Given the description of an element on the screen output the (x, y) to click on. 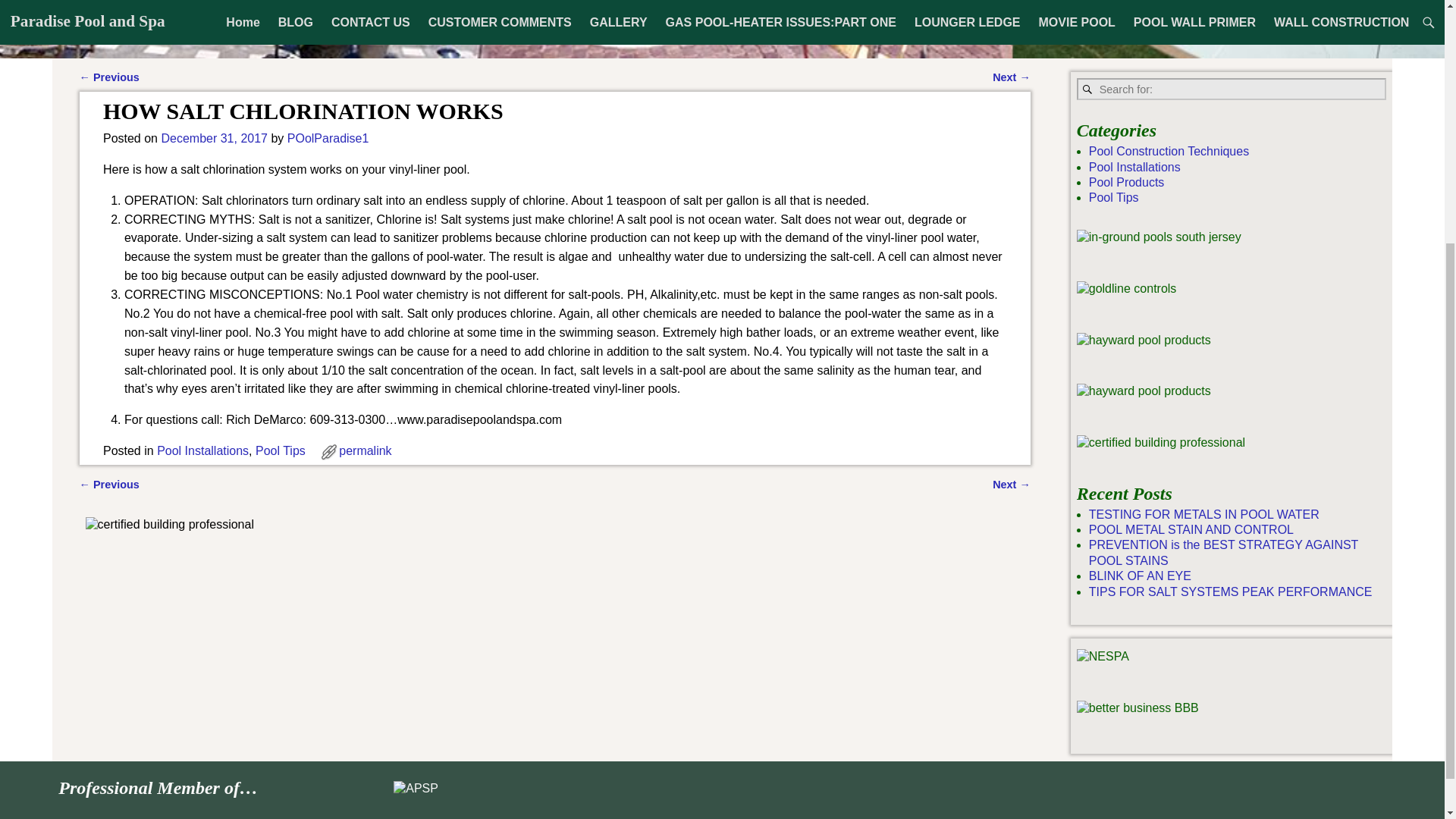
View all posts by POolParadise1 (327, 137)
POOL METAL STAIN AND CONTROL (1191, 529)
Pool Tips (280, 450)
Pool Products (1126, 182)
Pool Installations (202, 450)
PREVENTION is the BEST STRATEGY AGAINST POOL STAINS (1223, 552)
December 31, 2017 (213, 137)
permalink (365, 450)
POolParadise1 (327, 137)
TESTING FOR METALS IN POOL WATER (1204, 513)
Pool Construction Techniques (1169, 151)
Pool Tips (1113, 196)
9:40 pm (213, 137)
Permalink to HOW SALT CHLORINATION WORKS (365, 450)
BLINK OF AN EYE (1140, 575)
